Given the description of an element on the screen output the (x, y) to click on. 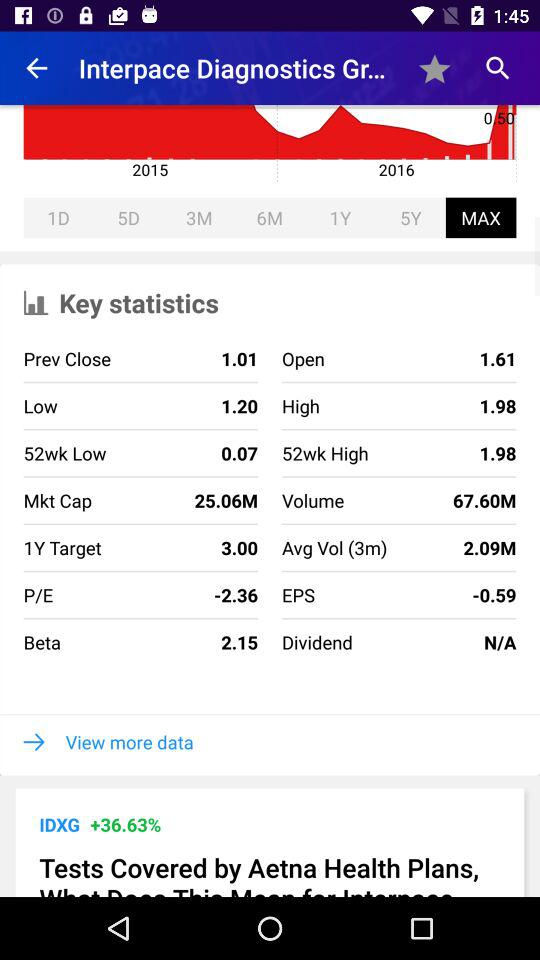
choose item to the right of 1.20 (324, 453)
